Given the description of an element on the screen output the (x, y) to click on. 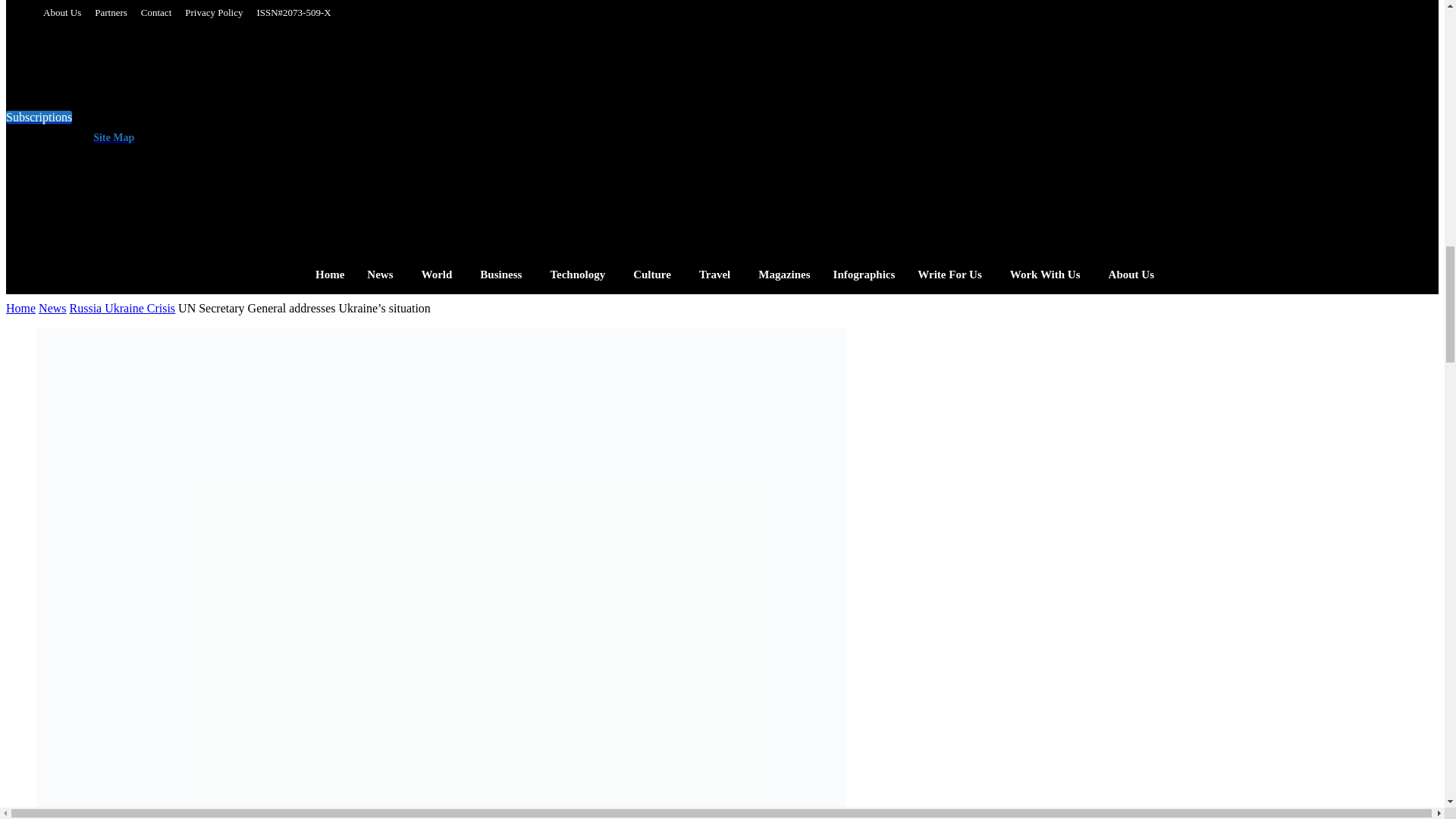
Twitter (412, 131)
Subscriptions (38, 116)
Site Map (110, 137)
Linkedin (382, 131)
View all posts in News (52, 308)
Youtube (443, 131)
Instagram (352, 131)
View all posts in Russia Ukraine Crisis (122, 308)
Facebook (321, 131)
